Given the description of an element on the screen output the (x, y) to click on. 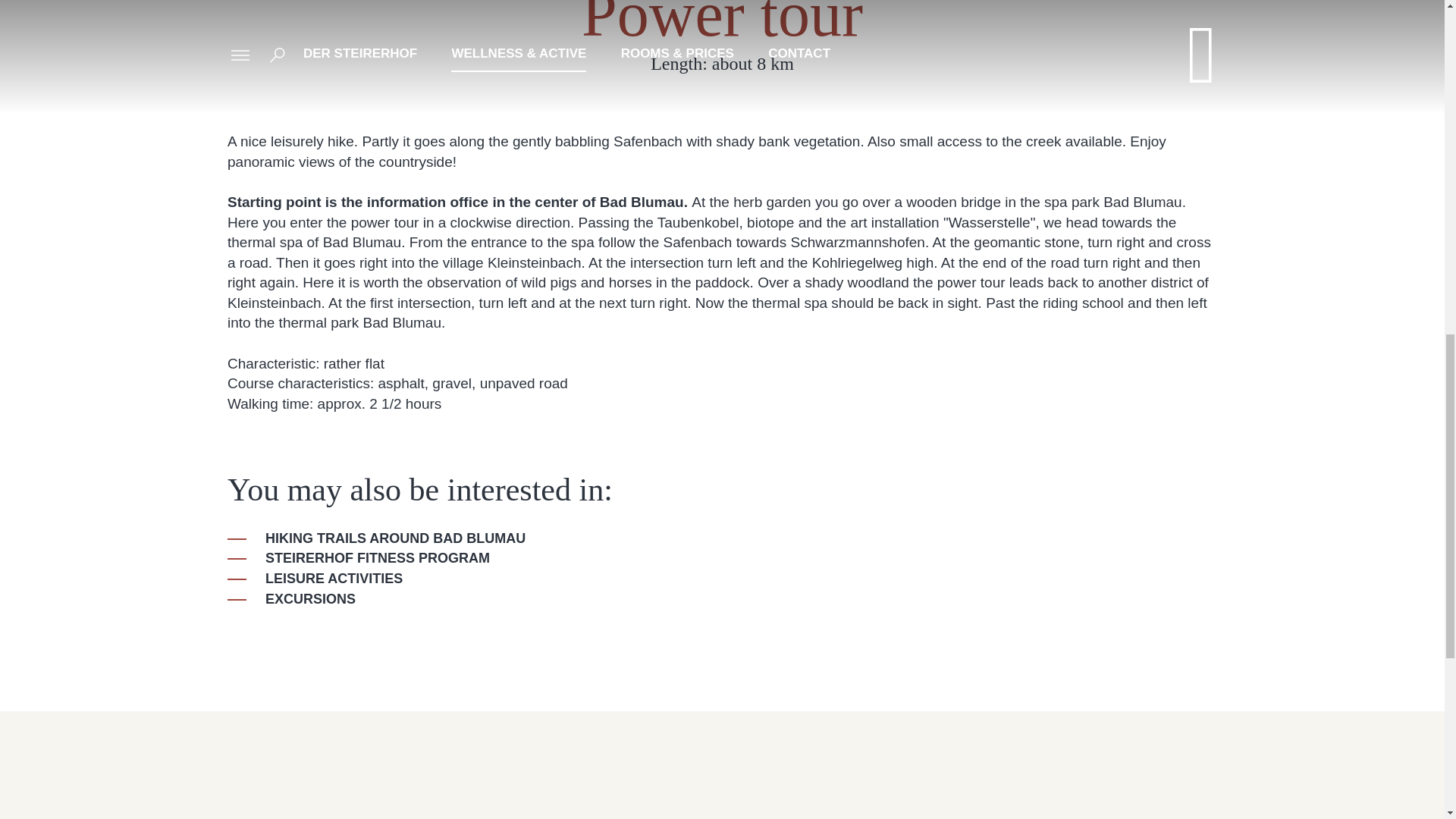
HIKING TRAILS AROUND BAD BLUMAU (376, 538)
EXCURSIONS (291, 599)
LEISURE ACTIVITIES (315, 578)
STEIRERHOF FITNESS PROGRAM (358, 558)
